Given the description of an element on the screen output the (x, y) to click on. 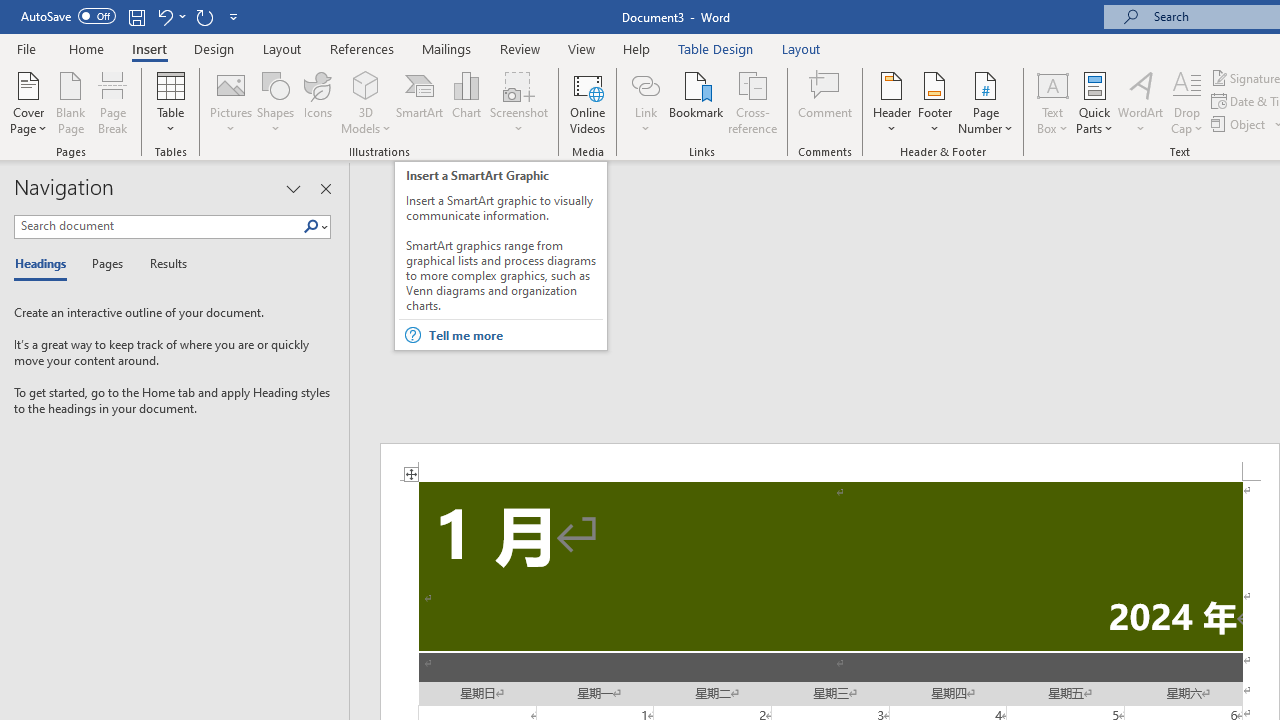
Table (170, 102)
Pictures (230, 102)
Header (891, 102)
Icons (317, 102)
Tell me more (514, 335)
Page Break (113, 102)
Cross-reference... (752, 102)
SmartArt... (419, 102)
Bookmark... (695, 102)
